Given the description of an element on the screen output the (x, y) to click on. 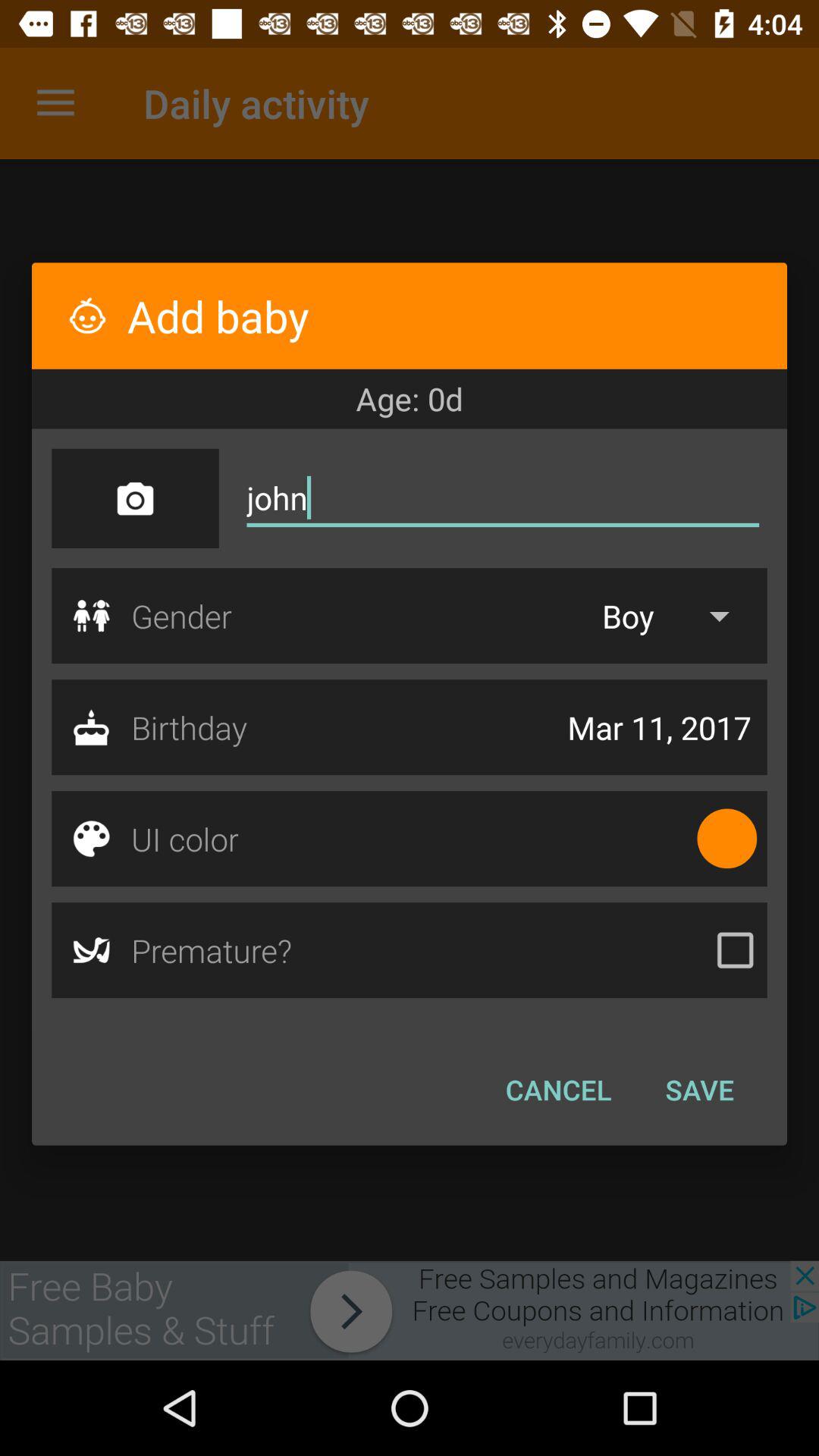
camera image (134, 498)
